Given the description of an element on the screen output the (x, y) to click on. 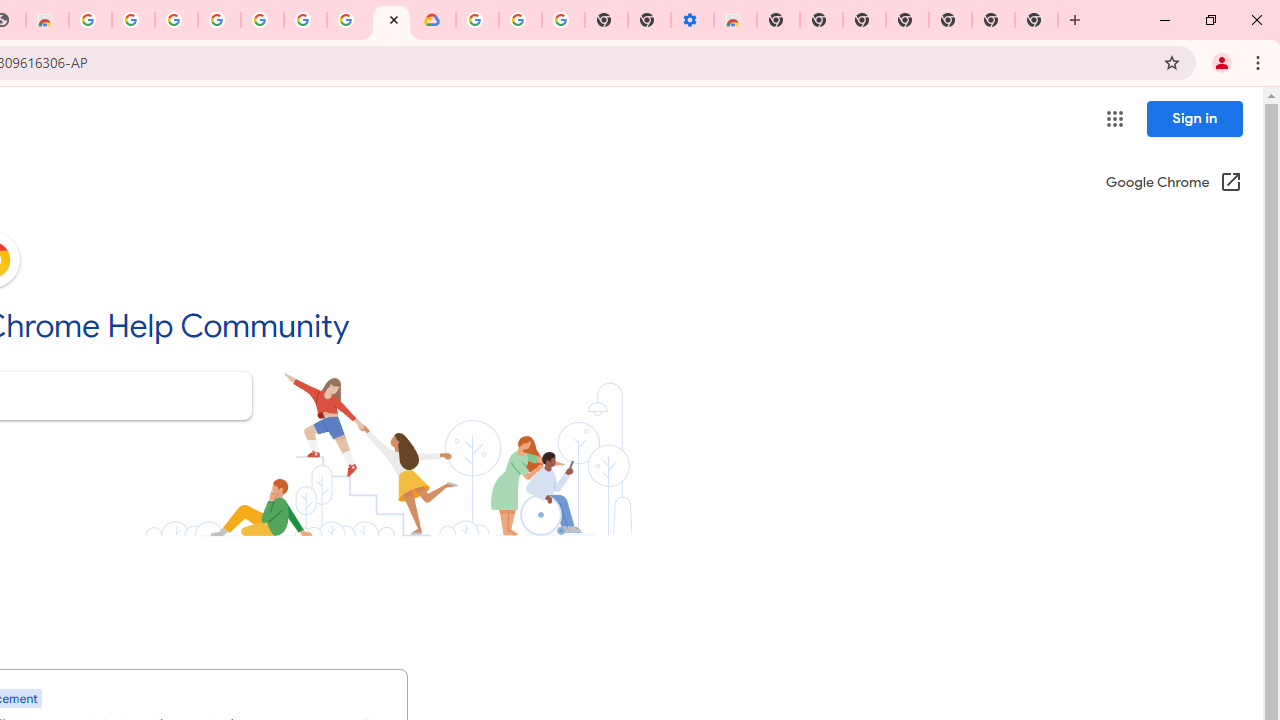
Sign in - Google Accounts (477, 20)
Google Chrome Community (391, 20)
Chrome Web Store - Household (47, 20)
Google Account Help (520, 20)
Chrome Web Store - Accessibility extensions (735, 20)
Ad Settings (176, 20)
Create your Google Account (347, 20)
